Given the description of an element on the screen output the (x, y) to click on. 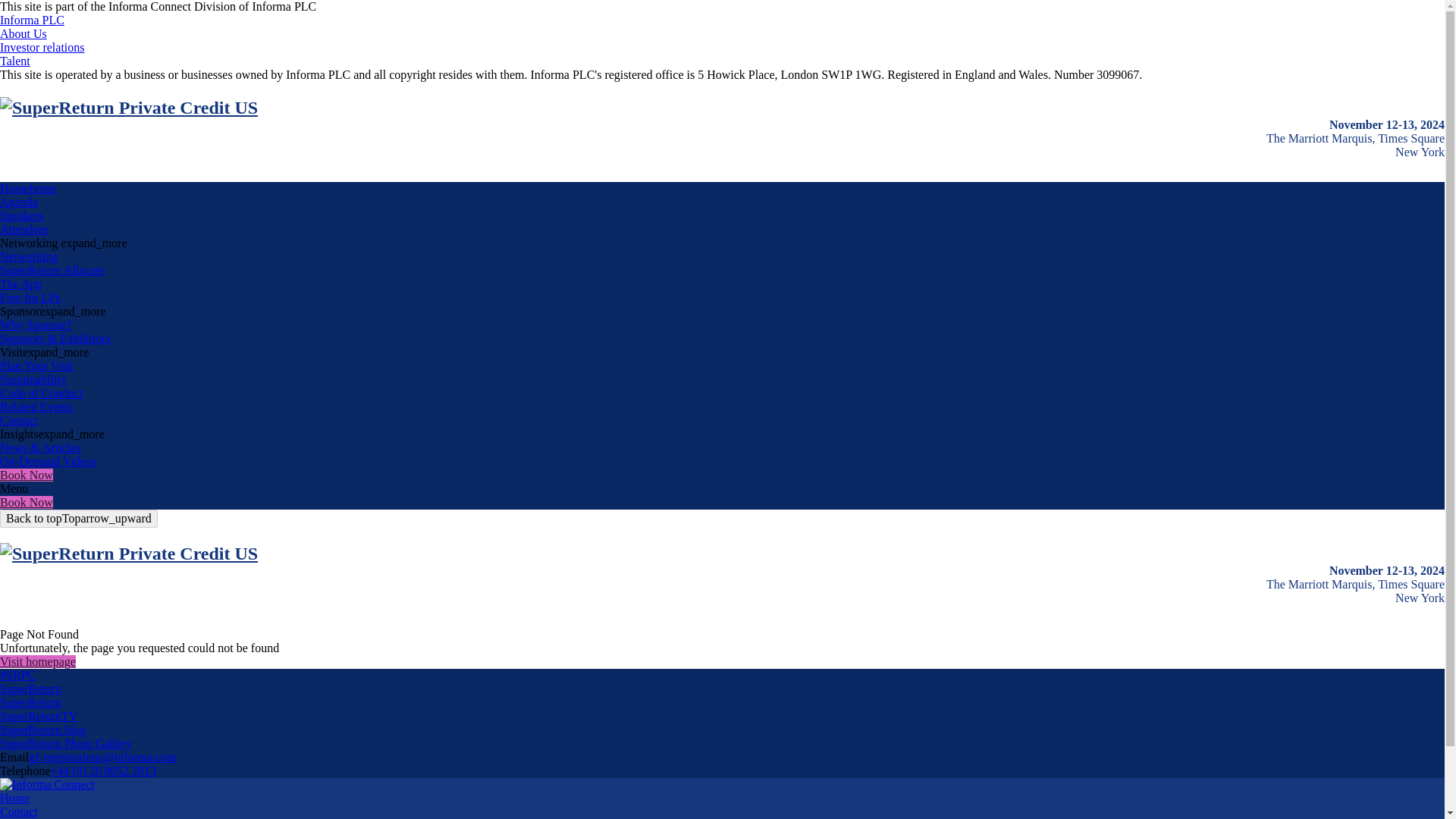
SuperReturn Photo Gallery (66, 743)
Talent (15, 60)
Visit homepage (37, 661)
Contact (18, 420)
Plan Your Visit (37, 365)
On-Demand Videos (48, 461)
Attendees (24, 228)
Agenda (18, 201)
SuperReturn (30, 702)
The App (21, 283)
Investor relations (42, 47)
Home (14, 797)
Book Now (26, 474)
Speakers (21, 215)
Sustainability (33, 379)
